Given the description of an element on the screen output the (x, y) to click on. 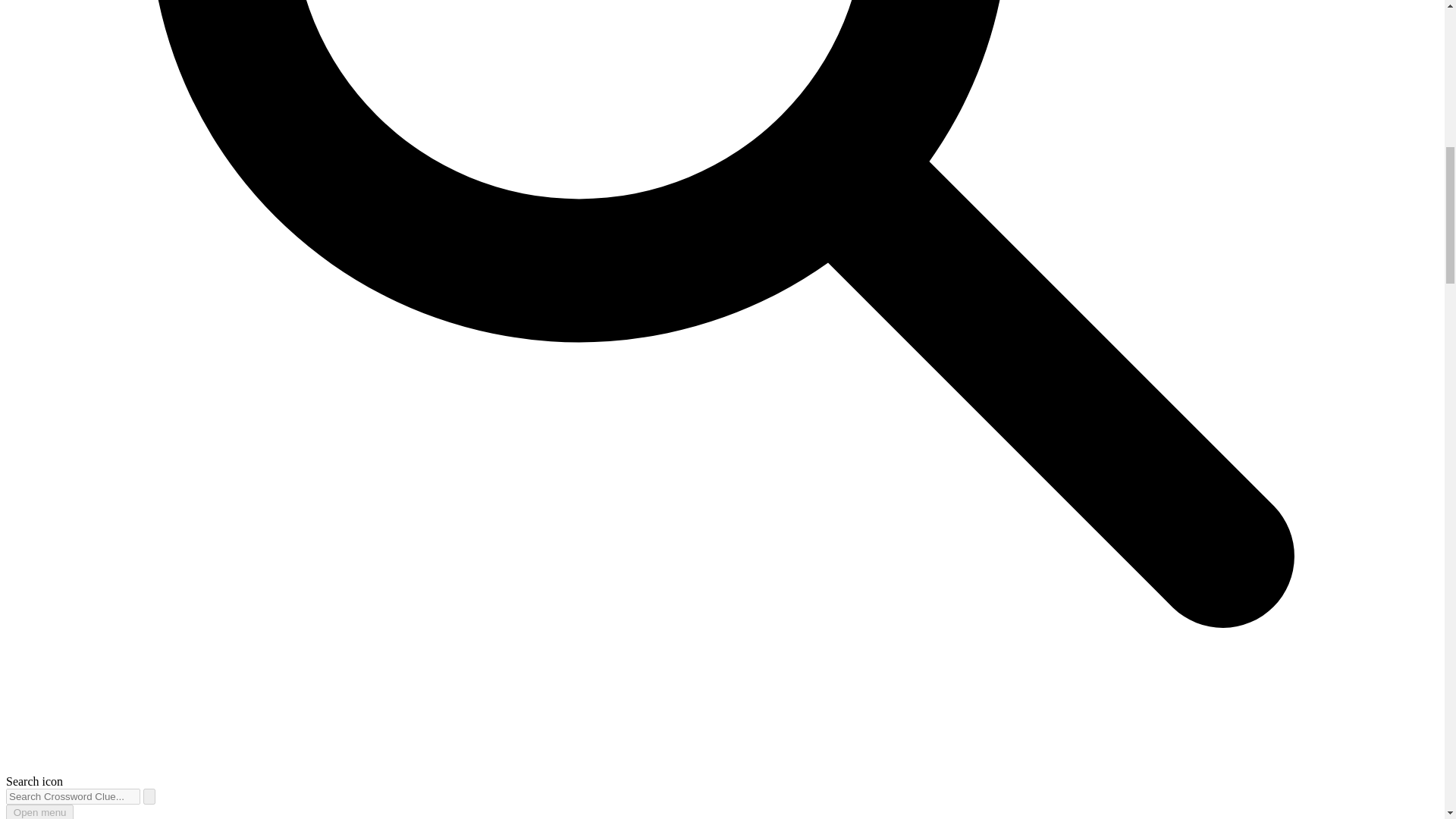
Open menu (39, 811)
